Given the description of an element on the screen output the (x, y) to click on. 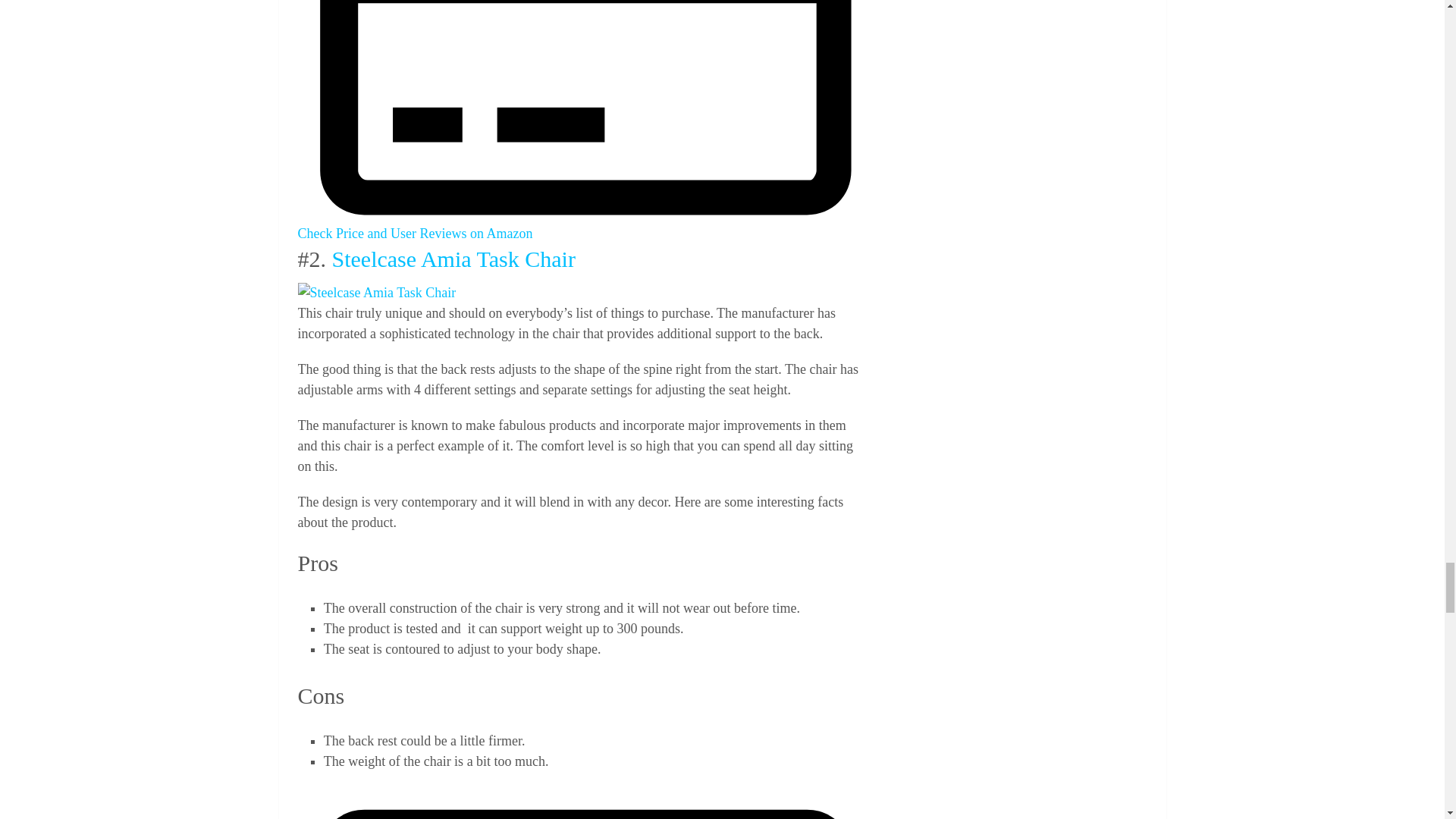
Steelcase Amia Task Chair (376, 292)
